Given the description of an element on the screen output the (x, y) to click on. 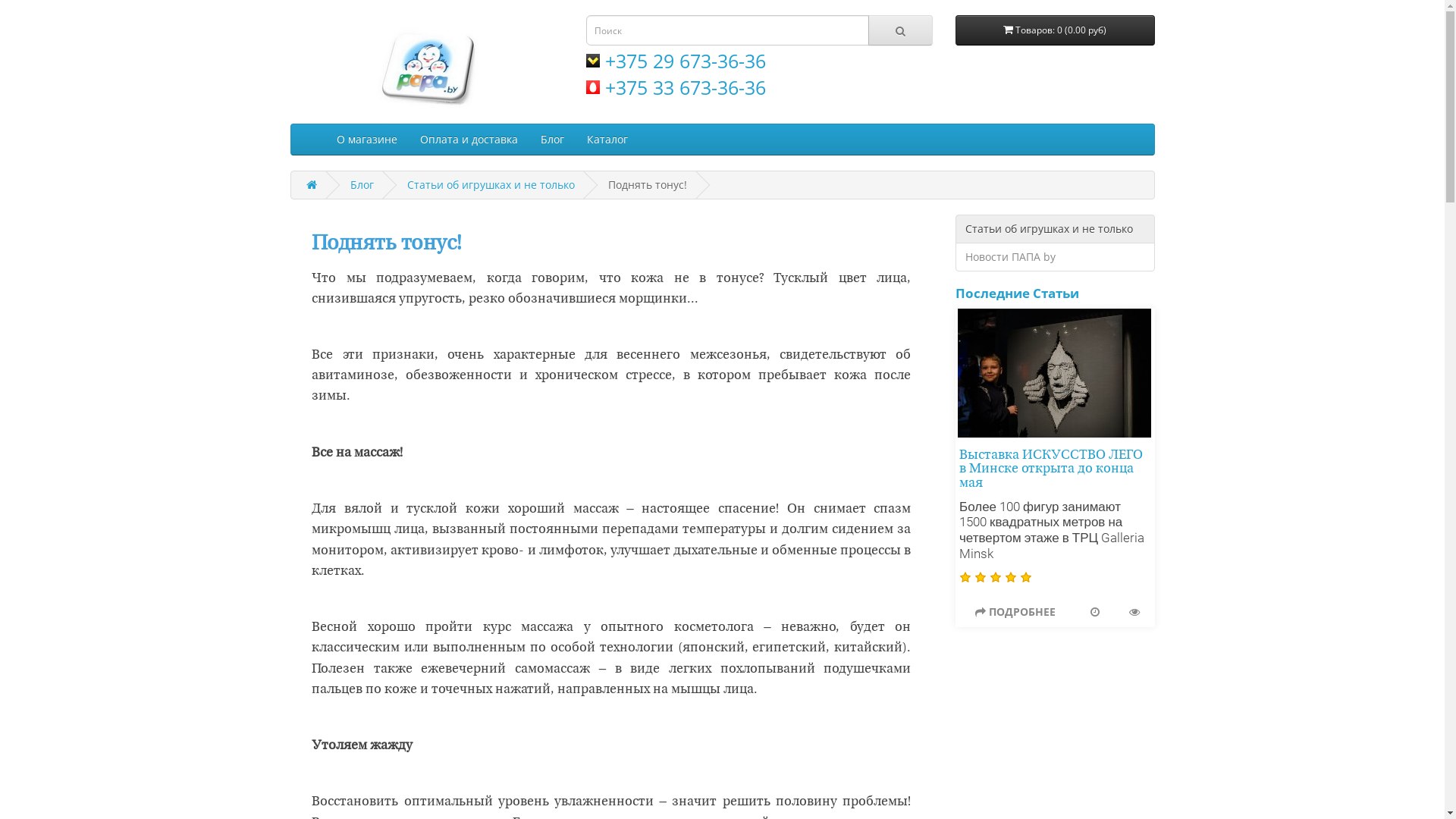
papa.by Element type: hover (426, 65)
papa.by Element type: hover (425, 65)
+375 29 673-36-36 Element type: text (675, 60)
+375 33 673-36-36 Element type: text (675, 87)
